Given the description of an element on the screen output the (x, y) to click on. 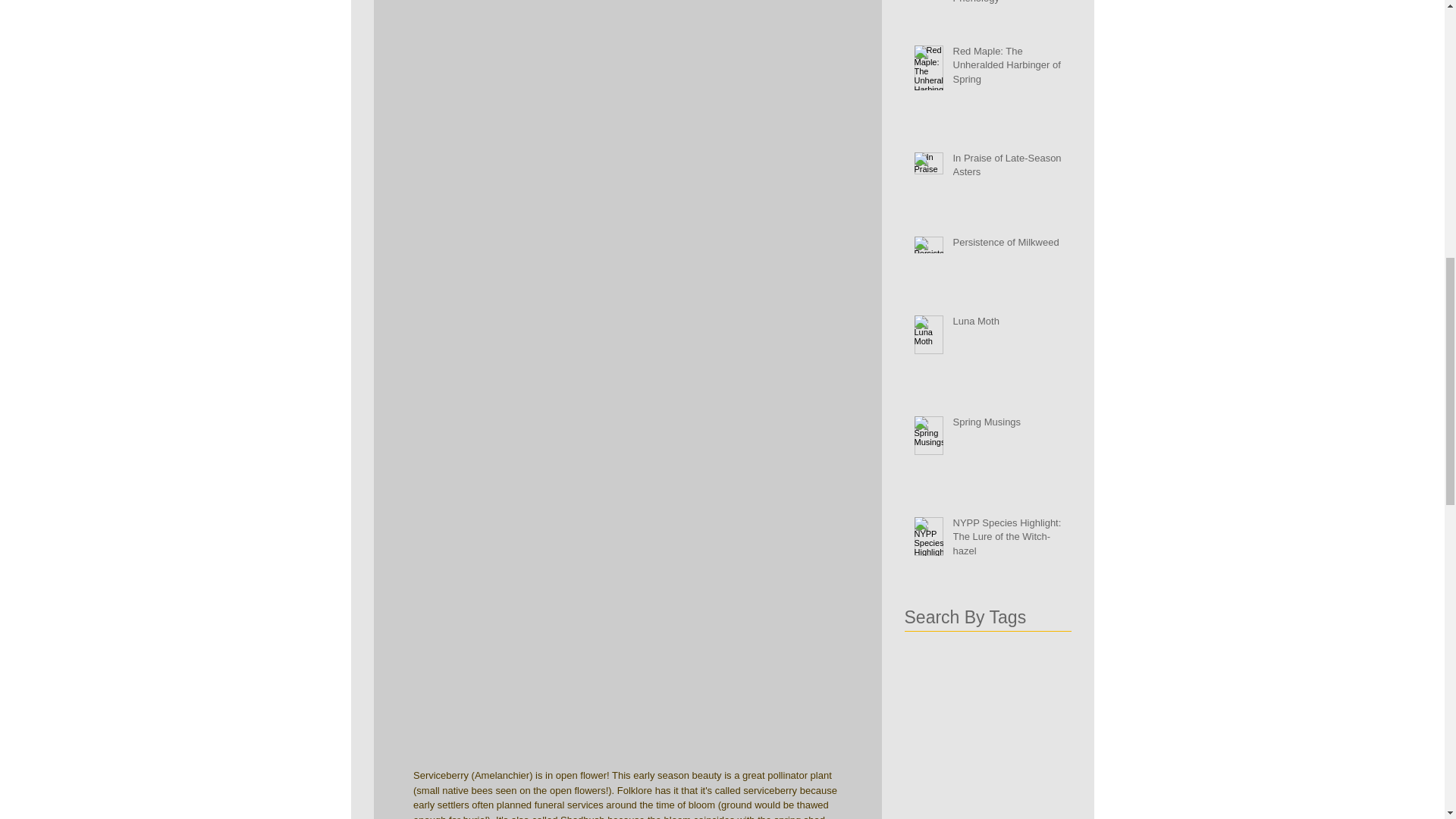
CoCo Sheng's Personal Experience with Phenology (1006, 5)
Persistence of Milkweed (1006, 245)
Luna Moth (1006, 324)
Spring Musings (1006, 424)
In Praise of Late-Season Asters (1006, 168)
NYPP Species Highlight: The Lure of the Witch-hazel (1006, 540)
Red Maple: The Unheralded Harbinger of Spring (1006, 68)
